Given the description of an element on the screen output the (x, y) to click on. 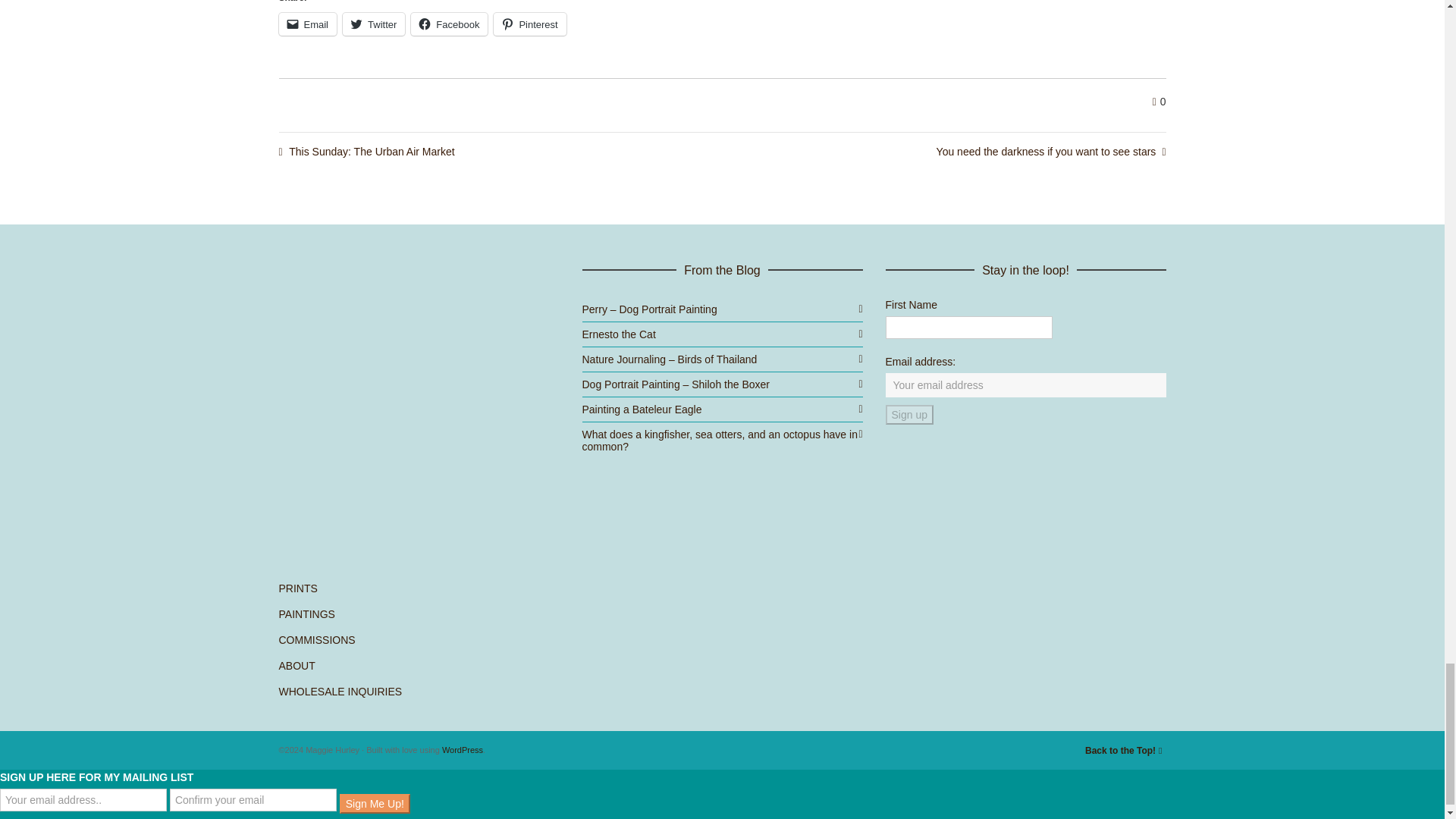
Click to share on Facebook (448, 24)
Click to share on Pinterest (529, 24)
Sign up (909, 414)
Sign Me Up! (374, 803)
Click to email a link to a friend (308, 24)
Click to share on Twitter (373, 24)
